Given the description of an element on the screen output the (x, y) to click on. 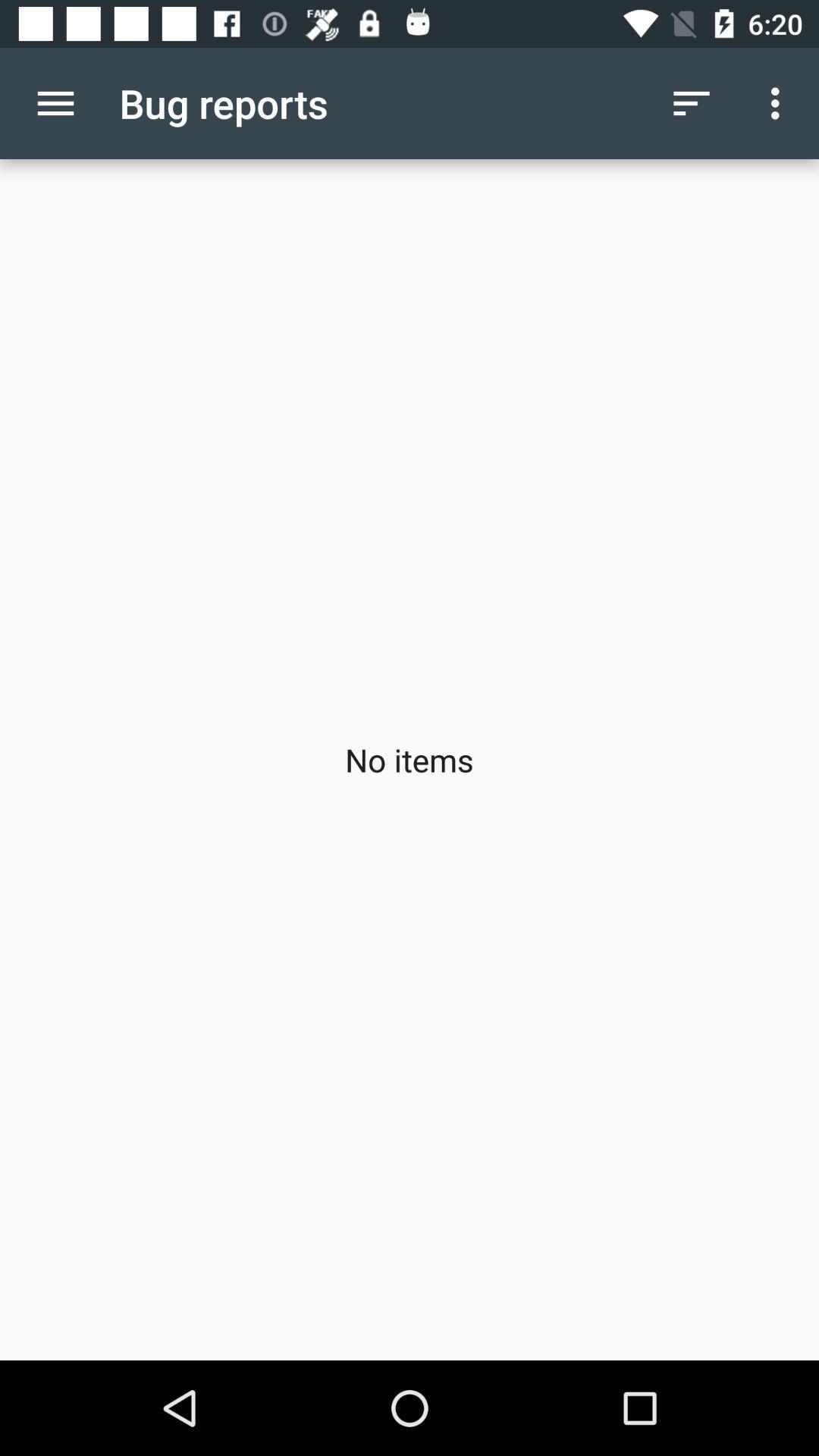
turn on item above no items app (691, 103)
